Given the description of an element on the screen output the (x, y) to click on. 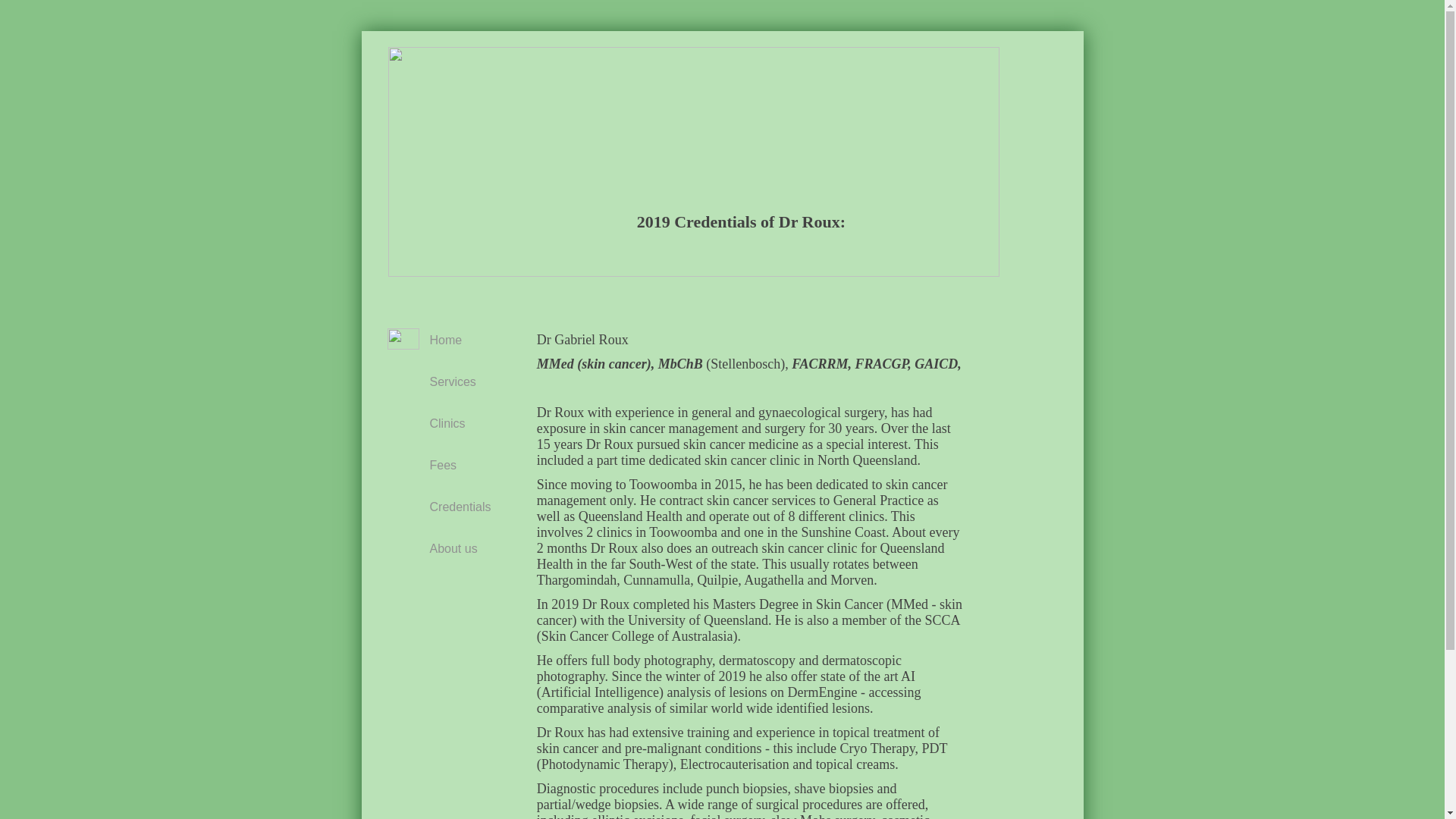
Fees (453, 465)
About us (453, 548)
Home (453, 340)
Credentials (460, 506)
Services (453, 381)
Clinics (453, 423)
